Given the description of an element on the screen output the (x, y) to click on. 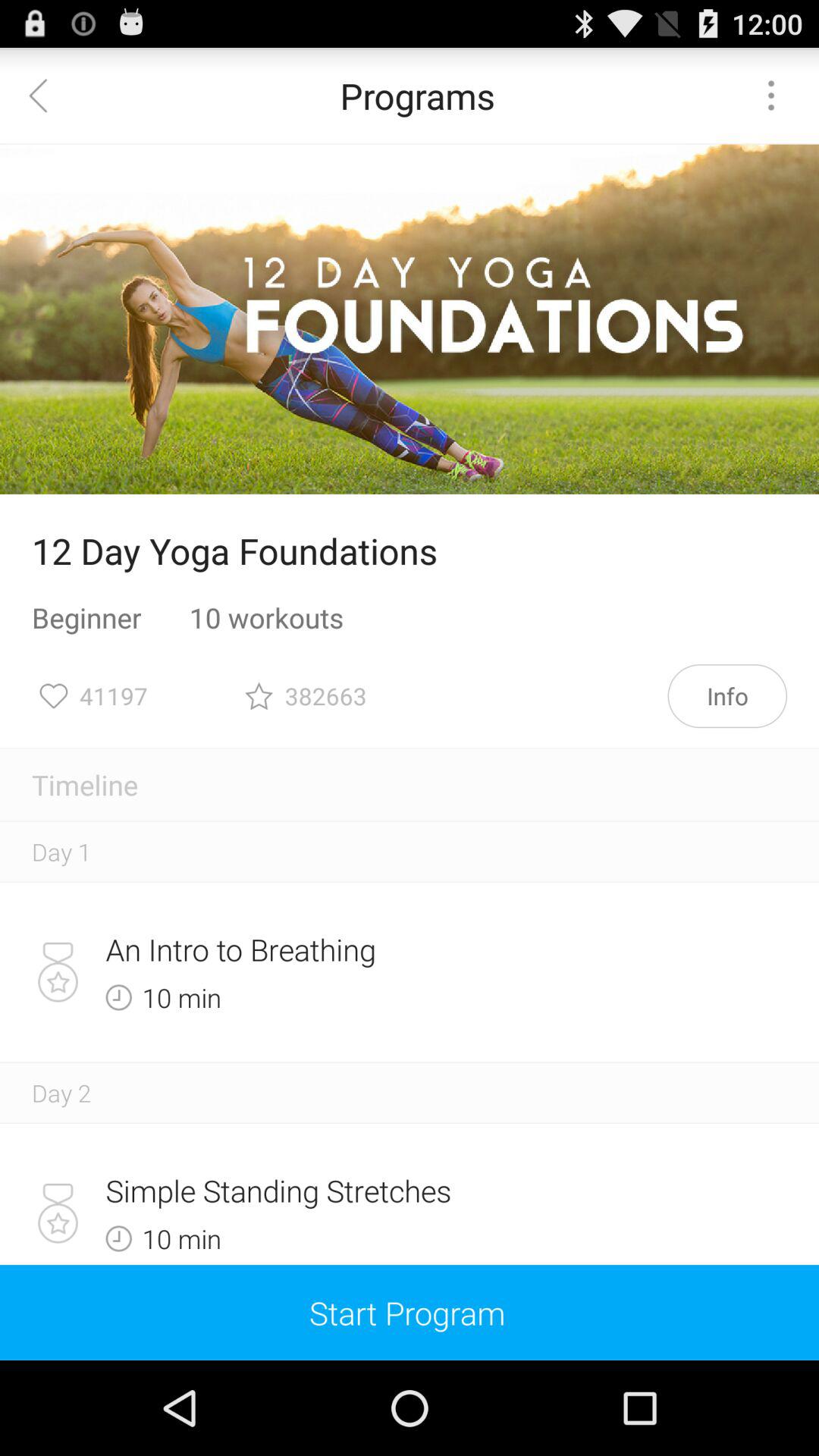
see more settings (771, 95)
